Given the description of an element on the screen output the (x, y) to click on. 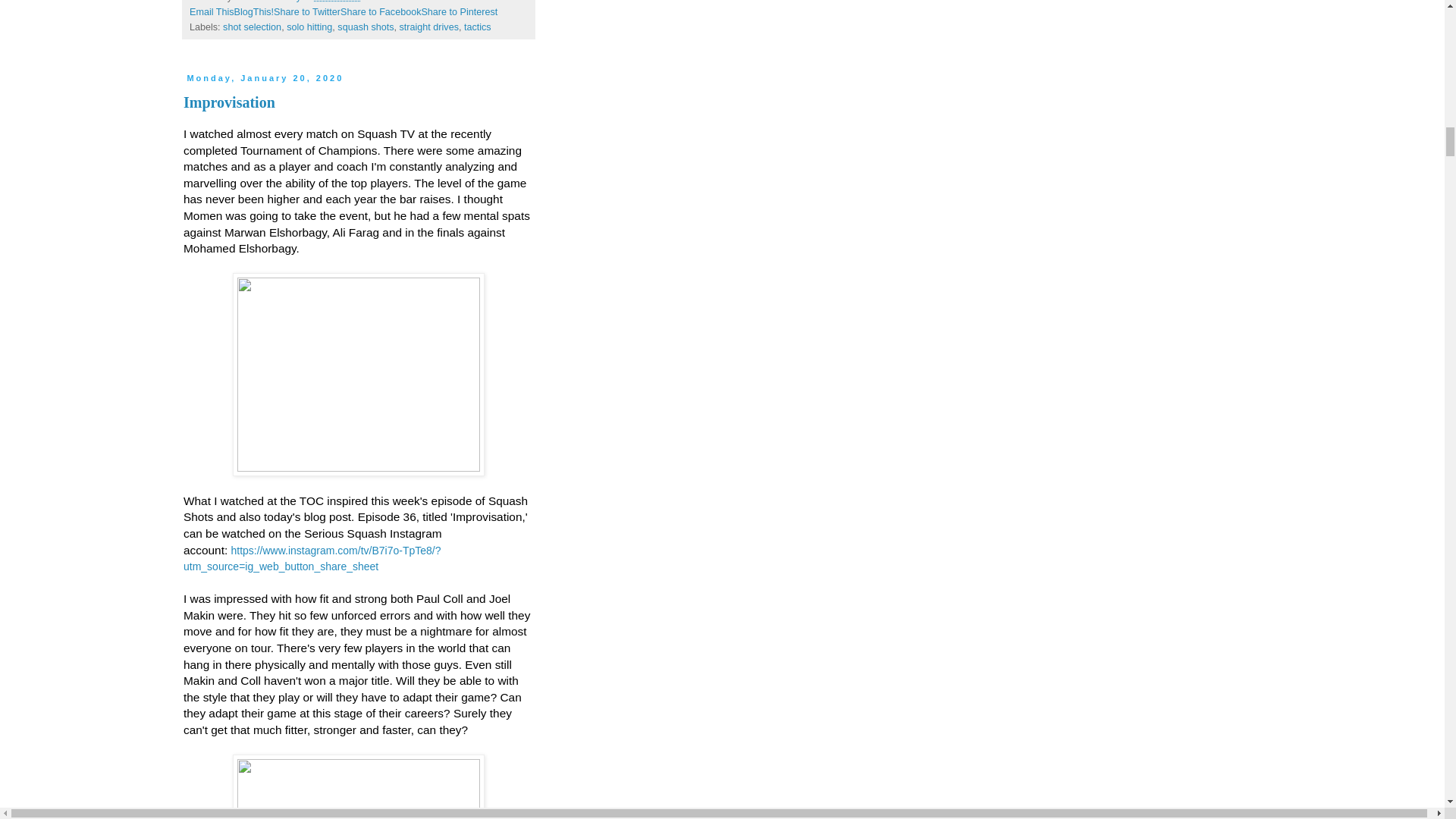
BlogThis! (254, 11)
Share to Twitter (306, 11)
Edit Post (435, 1)
Share to Twitter (306, 11)
author profile (269, 1)
BlogThis! (254, 11)
Improvisation (229, 102)
shot selection (251, 27)
Email This (211, 11)
No comments: (396, 1)
Share to Pinterest (458, 11)
Share to Facebook (380, 11)
Share to Facebook (380, 11)
squash shots (365, 27)
